Given the description of an element on the screen output the (x, y) to click on. 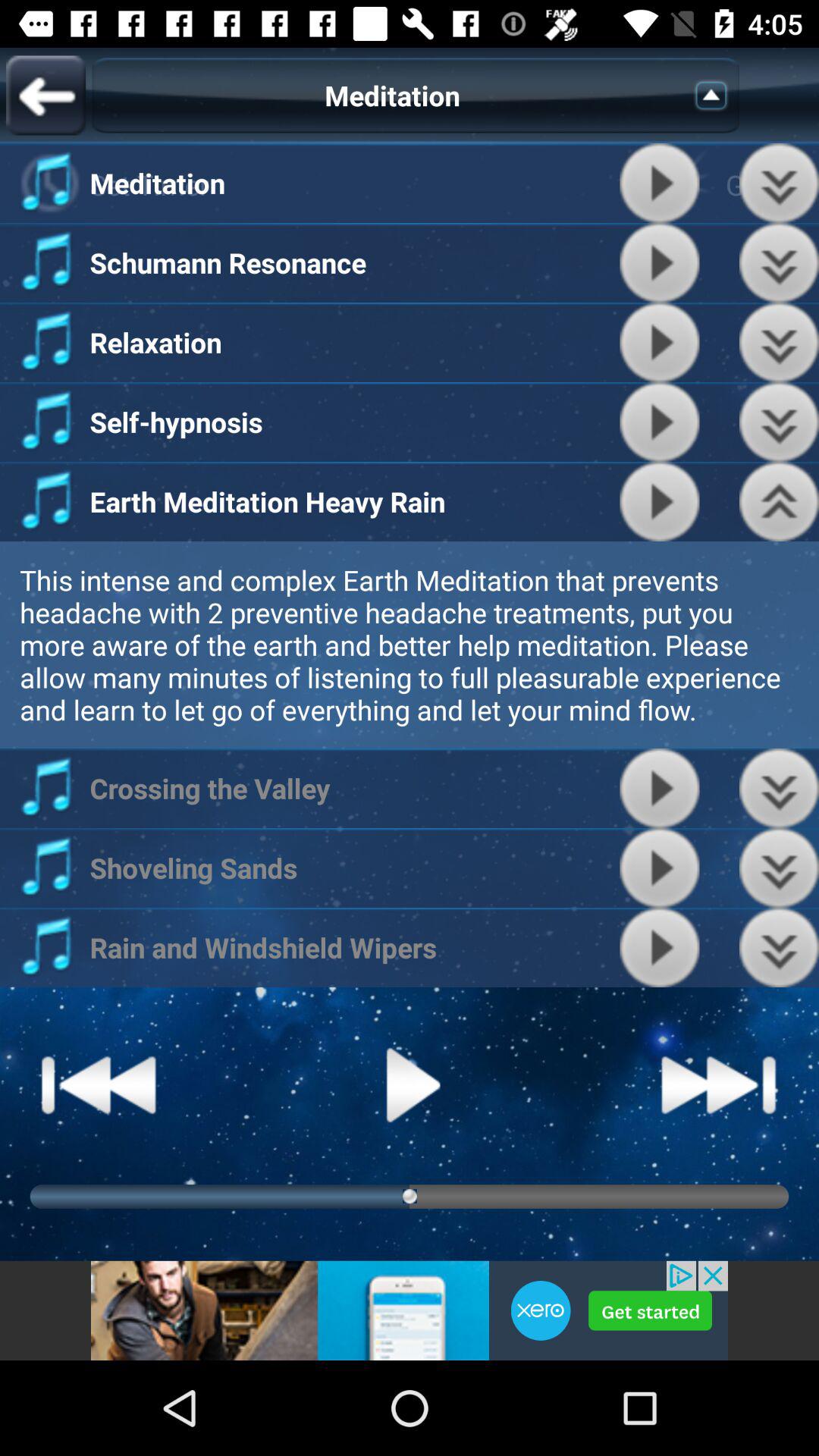
play meditation (659, 421)
